Given the description of an element on the screen output the (x, y) to click on. 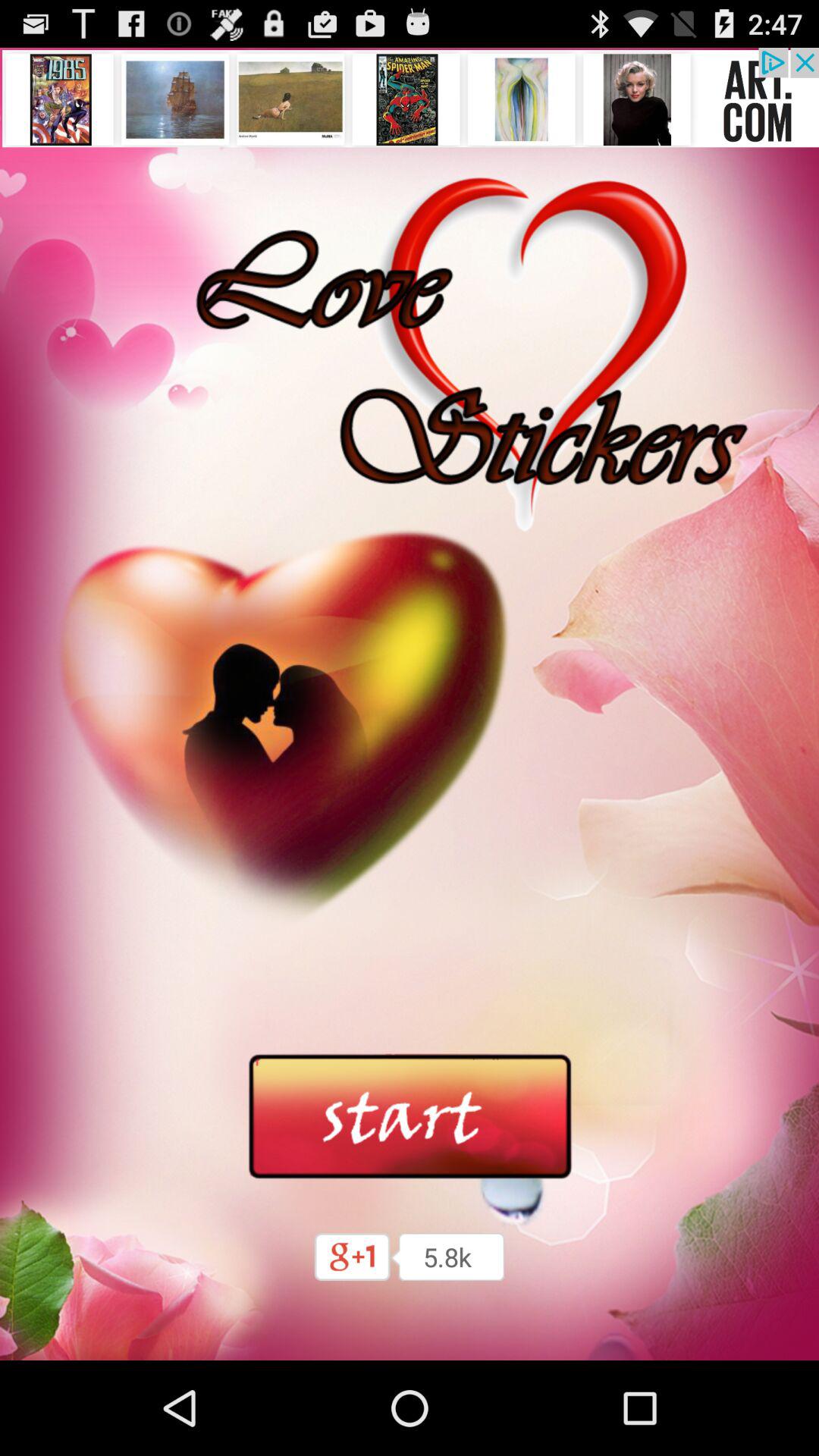
start the clip (409, 1116)
